Given the description of an element on the screen output the (x, y) to click on. 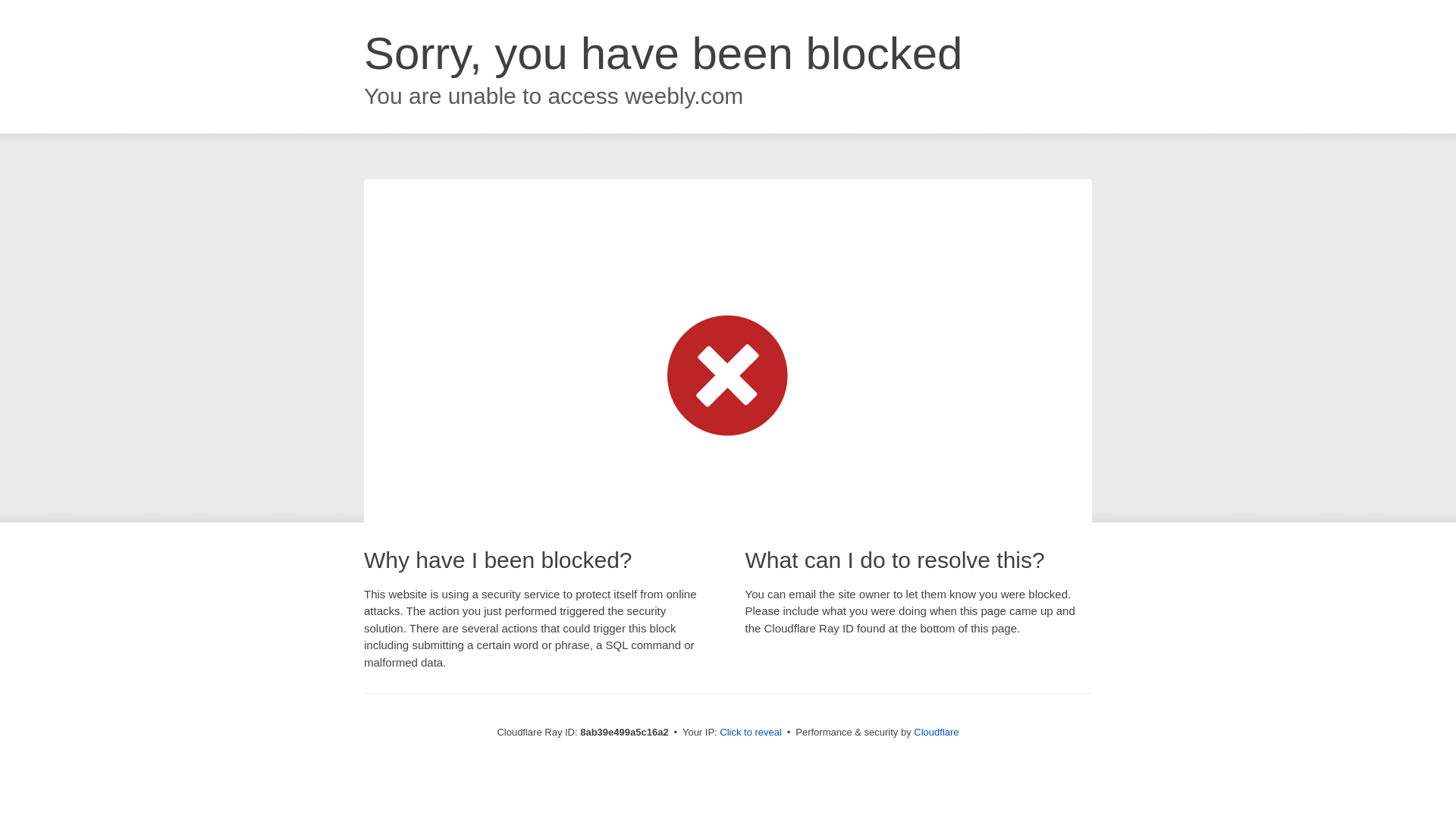
Click to reveal (750, 732)
Cloudflare (936, 731)
